Given the description of an element on the screen output the (x, y) to click on. 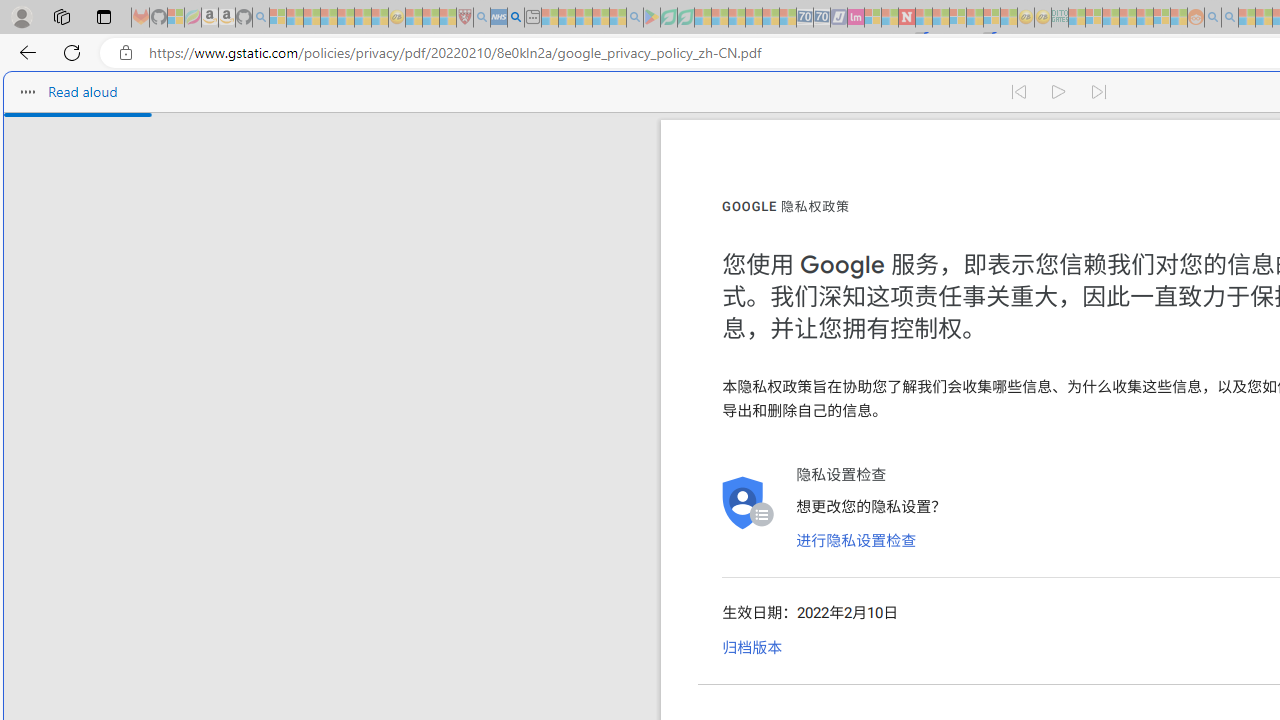
Terms of Use Agreement - Sleeping (668, 17)
Local - MSN - Sleeping (447, 17)
Bluey: Let's Play! - Apps on Google Play - Sleeping (651, 17)
Cheap Car Rentals - Save70.com - Sleeping (804, 17)
Pets - MSN - Sleeping (600, 17)
MSNBC - MSN - Sleeping (1076, 17)
Latest Politics News & Archive | Newsweek.com - Sleeping (906, 17)
Utah sues federal government - Search - Sleeping (1229, 17)
